Given the description of an element on the screen output the (x, y) to click on. 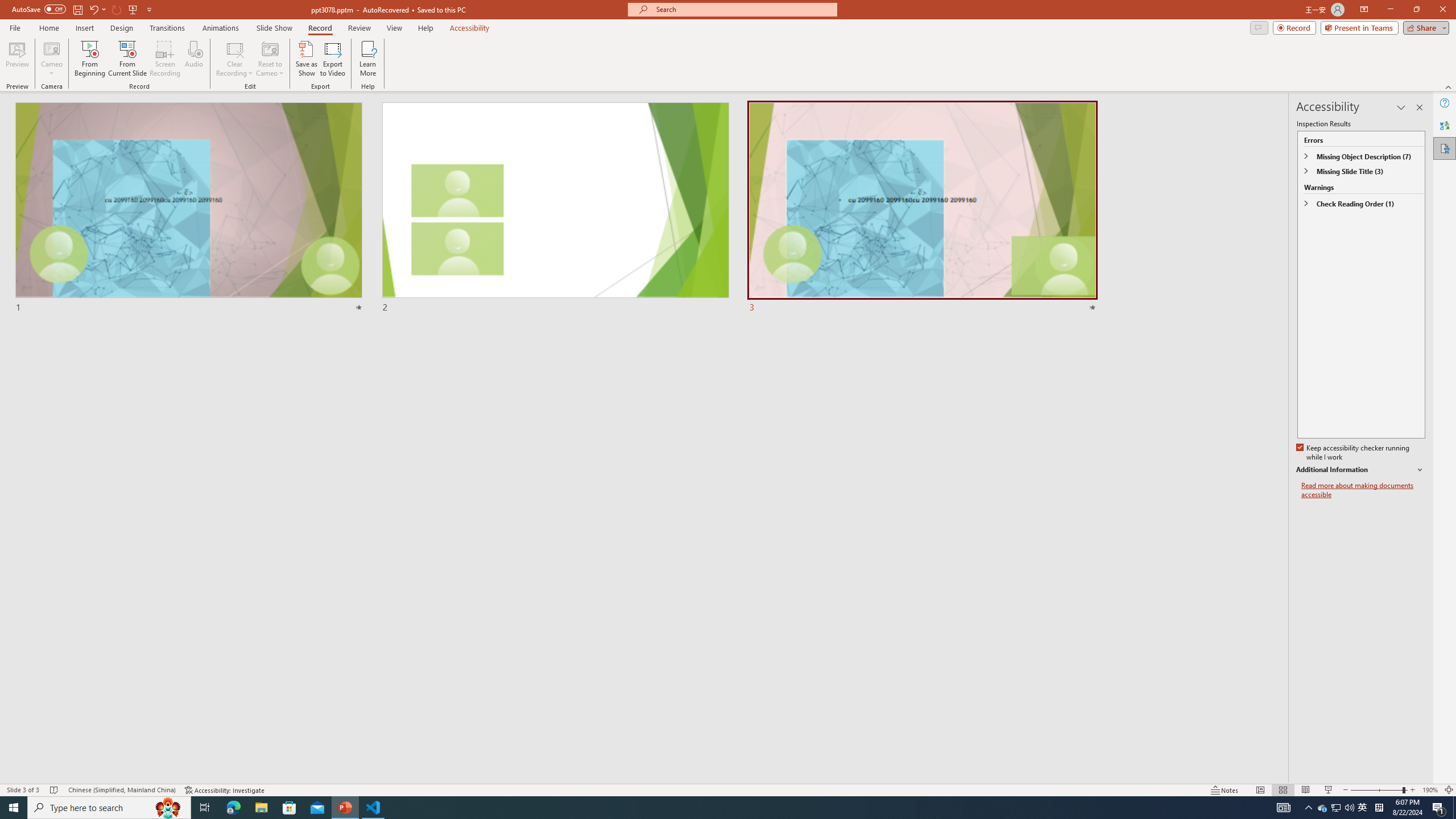
Zoom 190% (1430, 790)
